Given the description of an element on the screen output the (x, y) to click on. 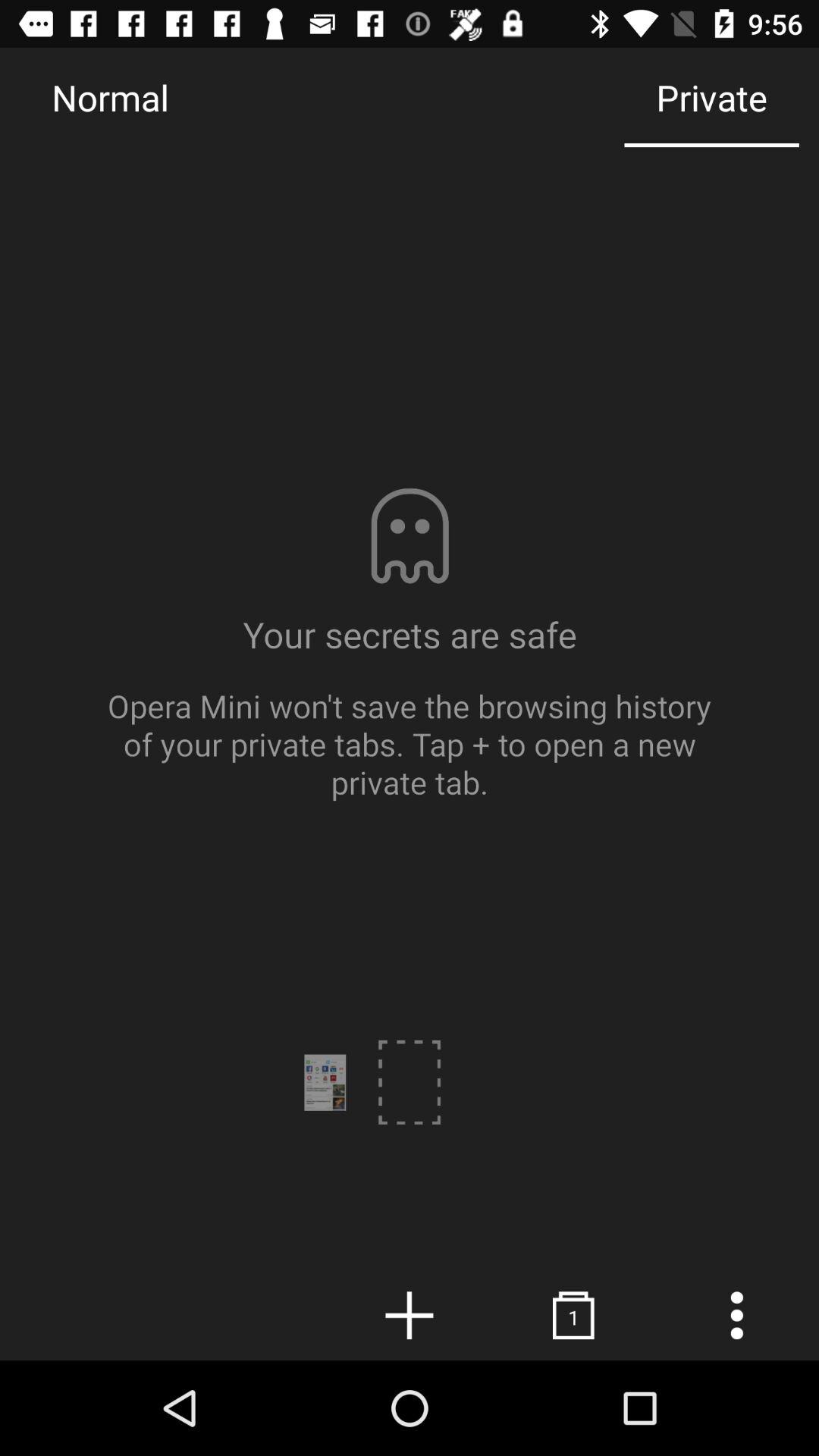
scroll until normal item (109, 97)
